Given the description of an element on the screen output the (x, y) to click on. 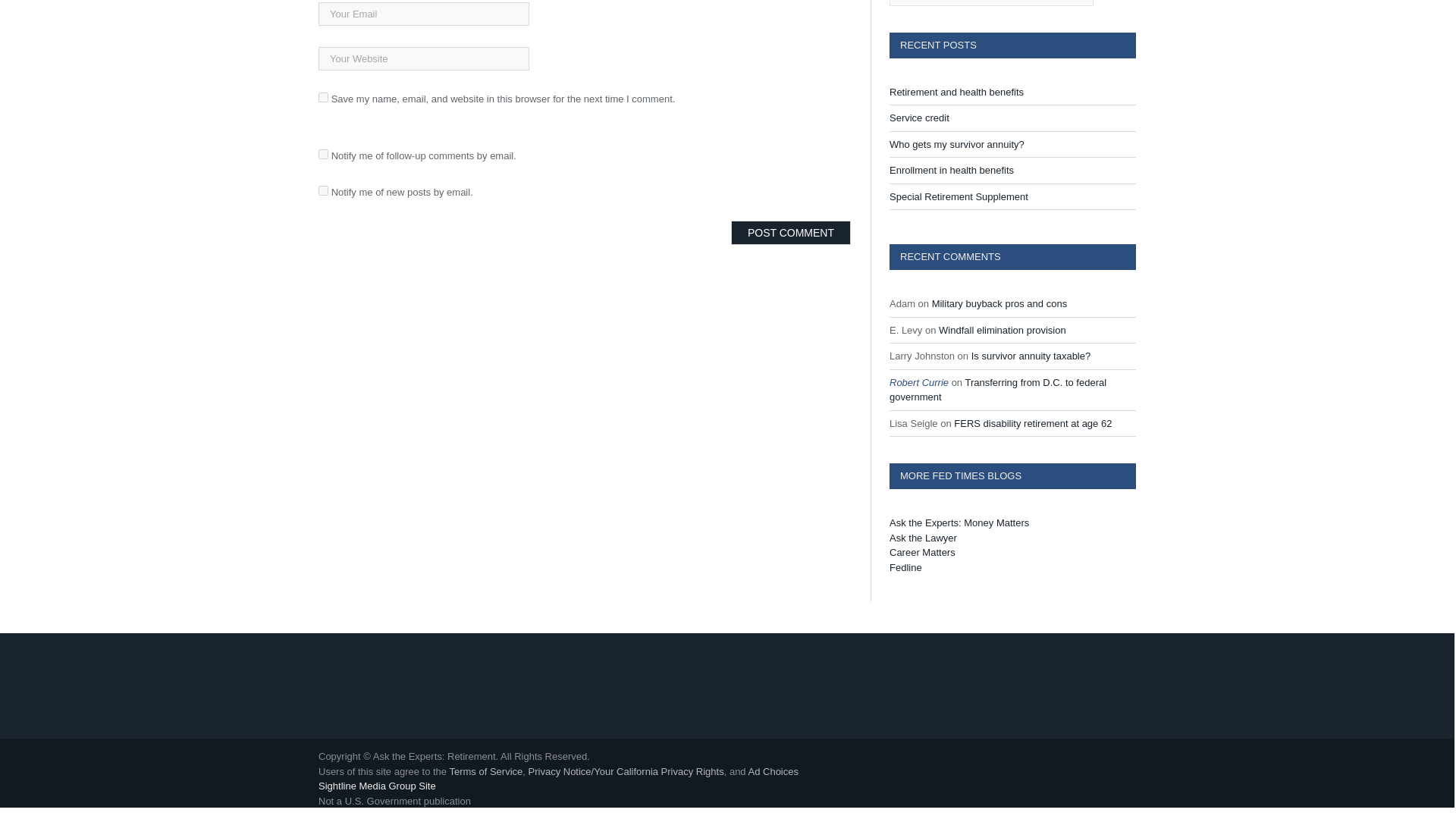
subscribe (323, 190)
Post Comment (790, 232)
yes (323, 97)
subscribe (323, 153)
